Given the description of an element on the screen output the (x, y) to click on. 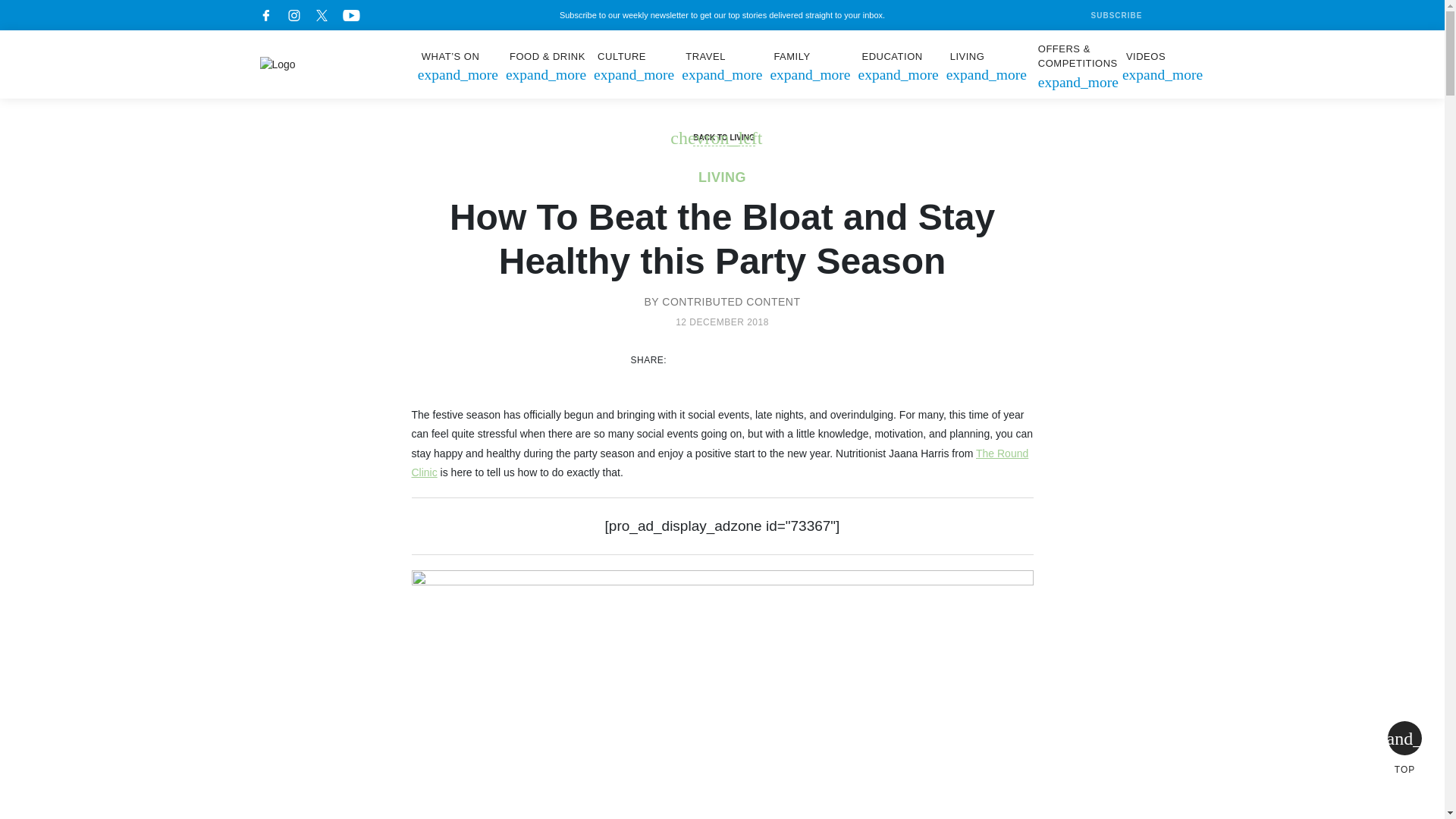
Search (1168, 14)
002-youtube Created with Sketch. (349, 15)
SUBSCRIBE (1104, 14)
002-facebook-logo Created with Sketch. (264, 15)
002-facebook-logo Created with Sketch. (264, 15)
001-instagram-logo Created with Sketch. (293, 15)
002-youtube Created with Sketch. (349, 15)
001-instagram-logo Created with Sketch. (293, 15)
